Given the description of an element on the screen output the (x, y) to click on. 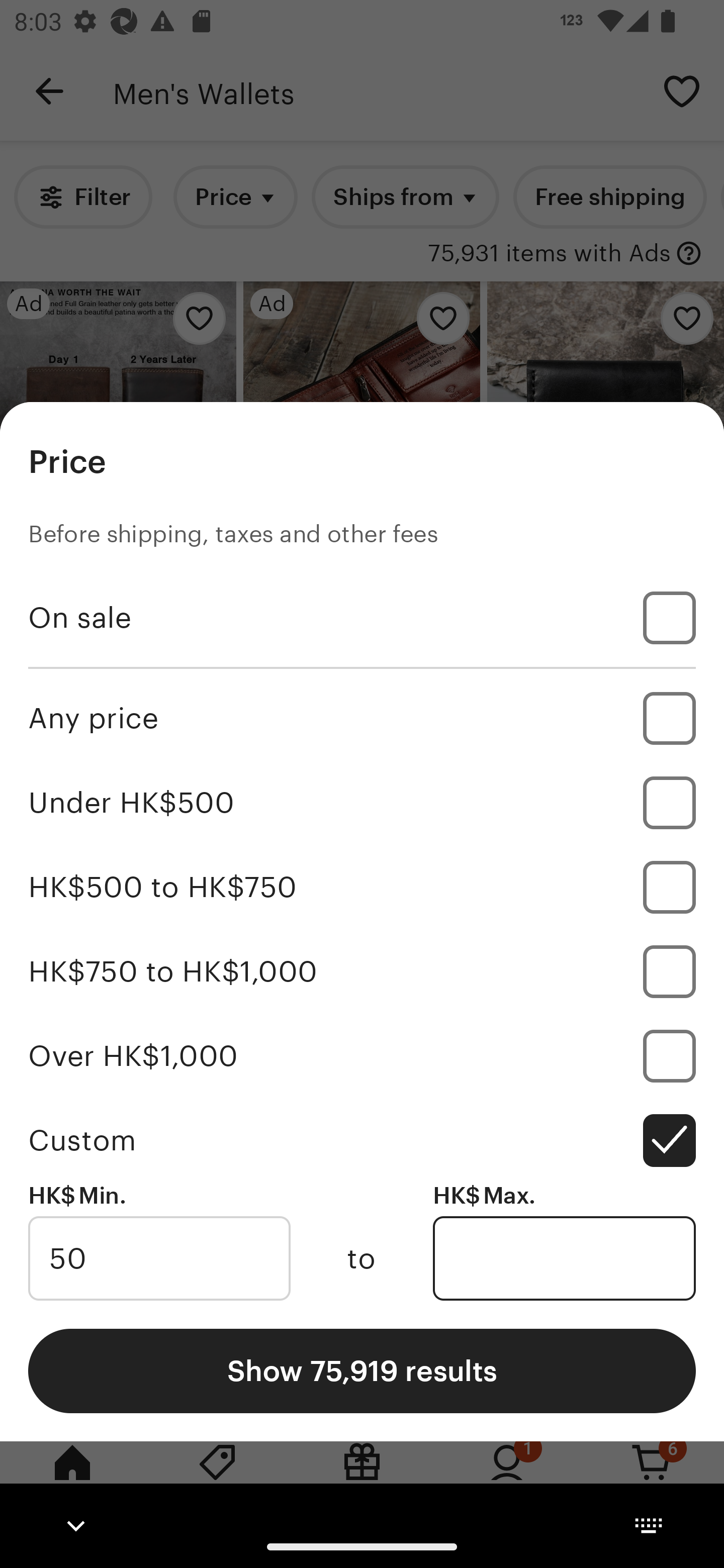
On sale (362, 617)
Any price (362, 717)
Under HK$500 (362, 802)
HK$500 to HK$750 (362, 887)
HK$750 to HK$1,000 (362, 970)
Over HK$1,000 (362, 1054)
Custom (362, 1139)
50 (159, 1257)
Show 75,919 results (361, 1370)
